Given the description of an element on the screen output the (x, y) to click on. 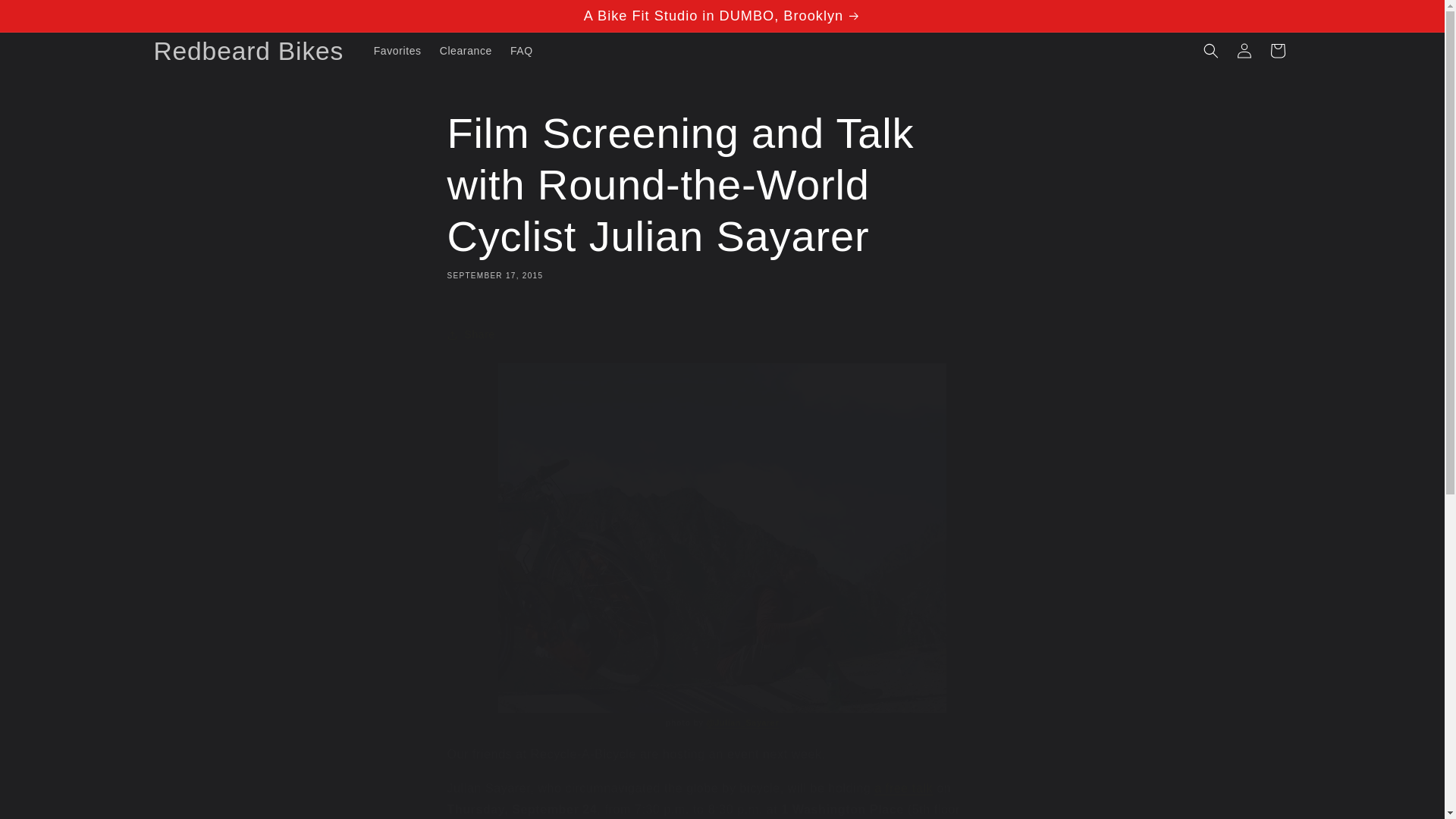
A Bike Fit Studio in DUMBO, Brooklyn (721, 15)
Log in (1243, 50)
Redbeard Bikes (248, 50)
FAQ (520, 50)
Share (721, 335)
Clearance (465, 50)
a free talk (904, 788)
Skip to content (45, 17)
Favorites (397, 50)
Cart (1277, 50)
